Given the description of an element on the screen output the (x, y) to click on. 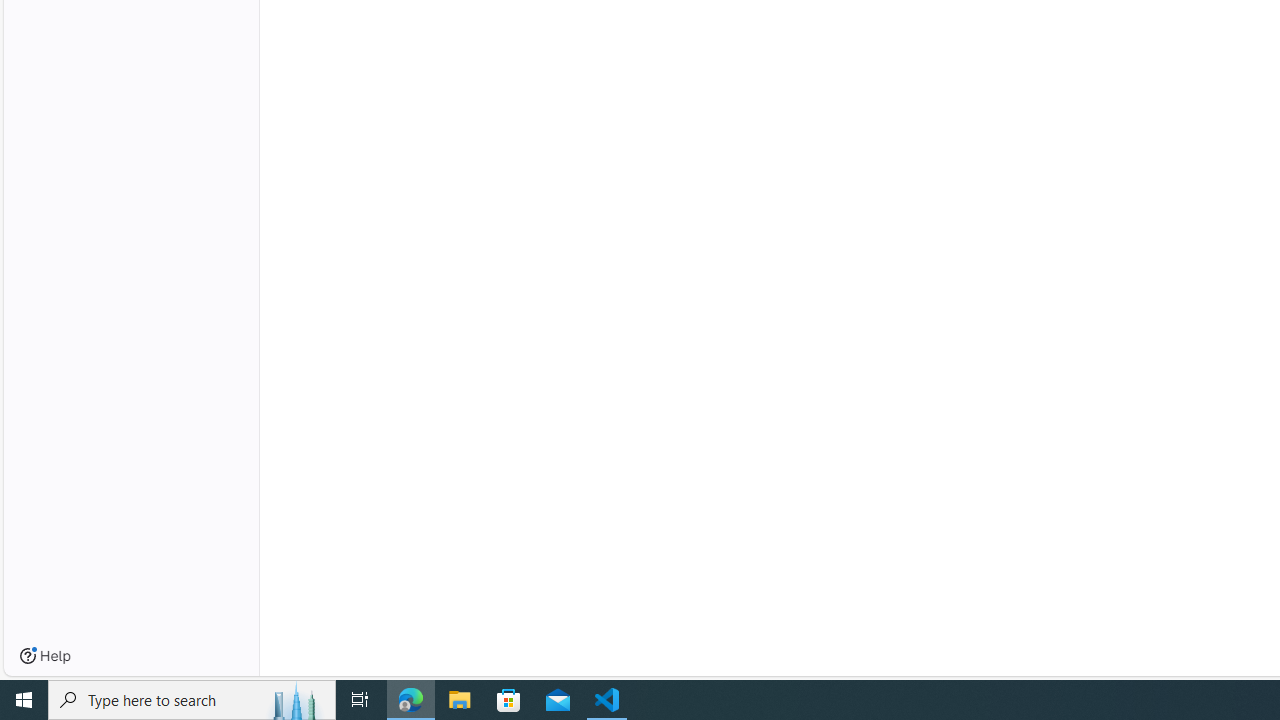
Help (45, 655)
